Given the description of an element on the screen output the (x, y) to click on. 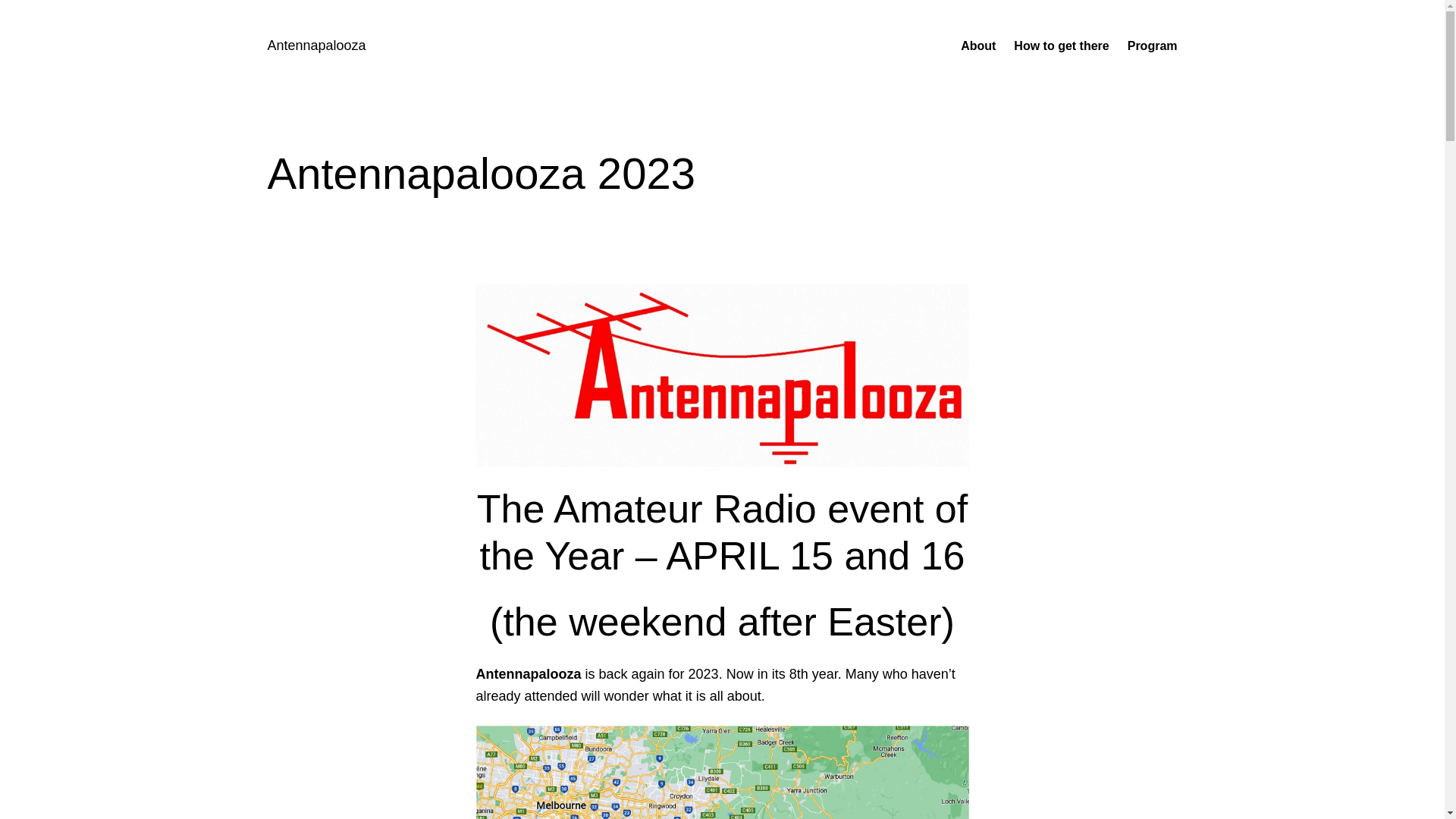
About Element type: text (977, 46)
Antennapalooza Element type: text (315, 45)
How to get there Element type: text (1060, 46)
Program Element type: text (1152, 46)
